Given the description of an element on the screen output the (x, y) to click on. 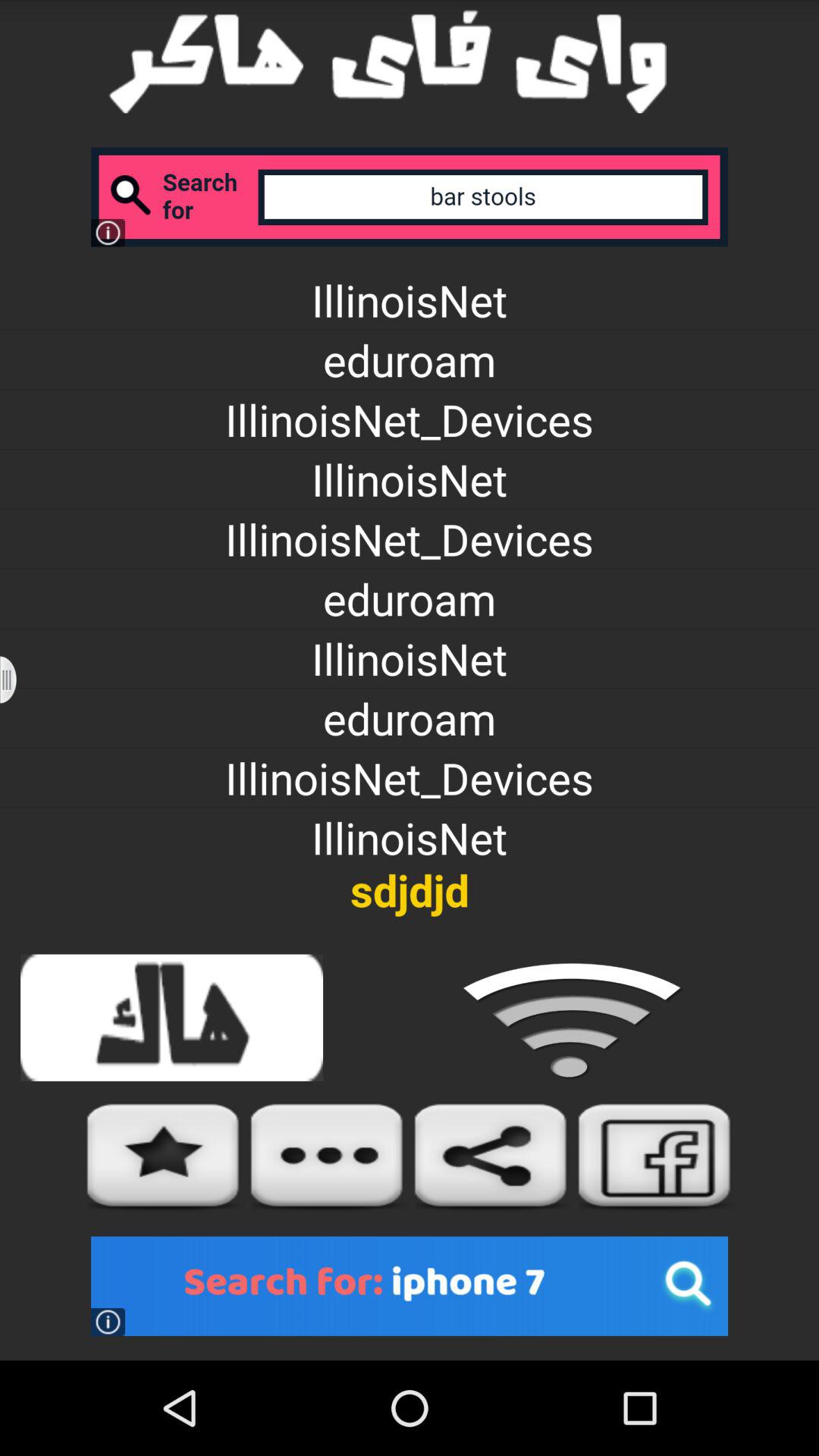
go to advertisement (409, 1285)
